Given the description of an element on the screen output the (x, y) to click on. 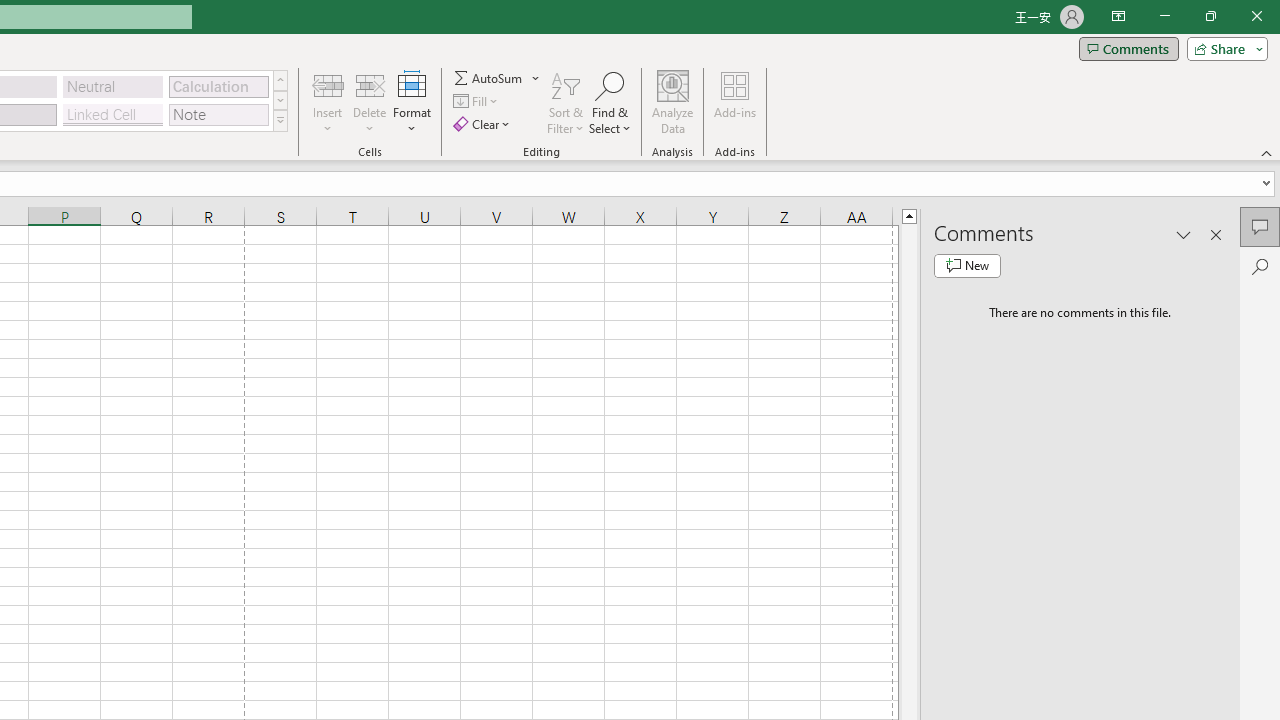
Find & Select (610, 102)
Cell Styles (280, 120)
Neutral (113, 86)
AutoSum (497, 78)
Sort & Filter (566, 102)
Insert Cells (328, 84)
Note (218, 114)
Calculation (218, 86)
Sum (489, 78)
